Given the description of an element on the screen output the (x, y) to click on. 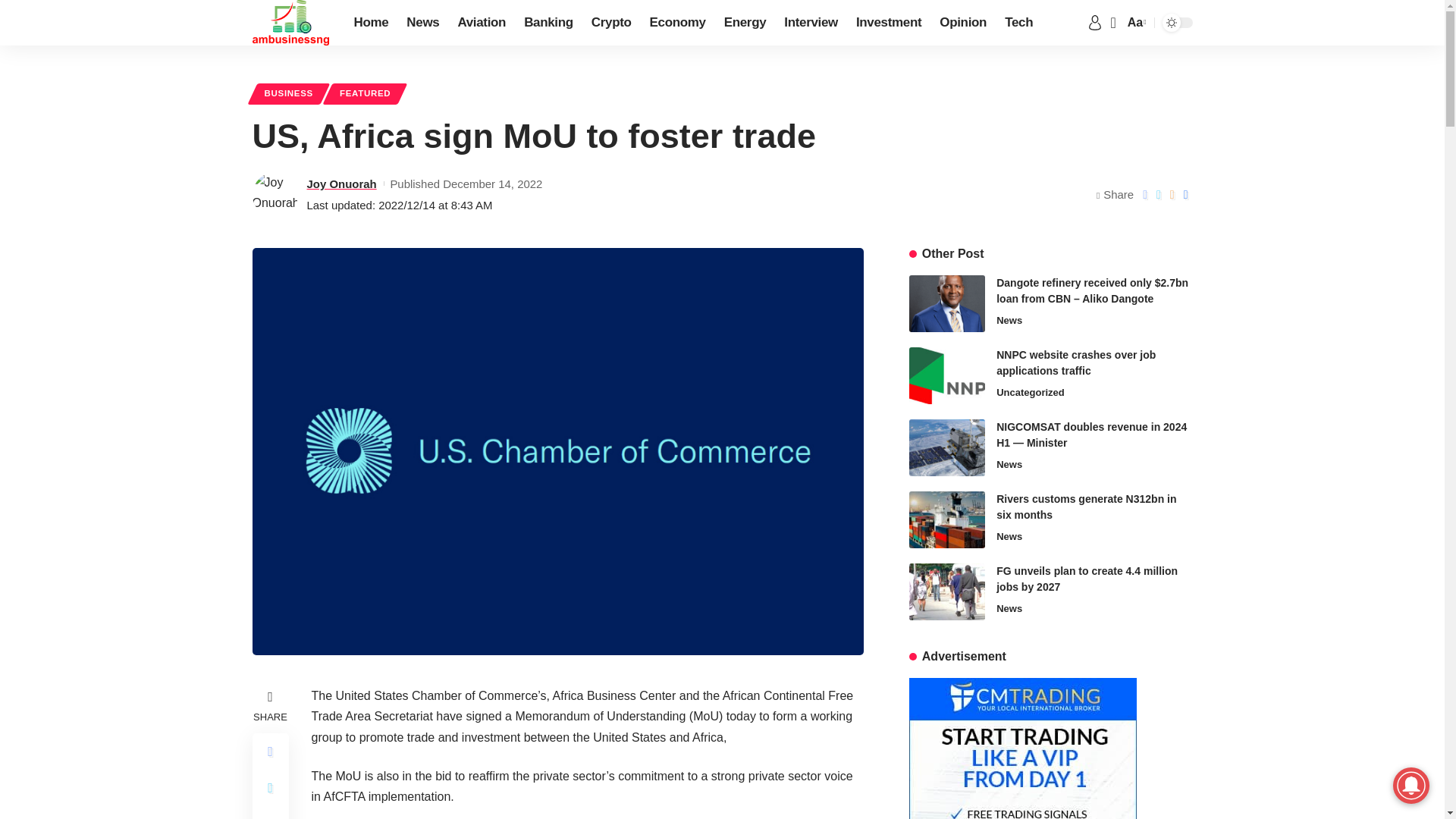
Rivers customs generate N312bn in six months (946, 519)
Home (370, 22)
Banking (548, 22)
Tech (1018, 22)
AM Business (290, 22)
Aviation (481, 22)
Investment (888, 22)
Energy (745, 22)
Interview (810, 22)
Economy (677, 22)
NNPC website crashes over job applications traffic (946, 375)
FG unveils plan to create 4.4 million jobs by 2027 (946, 590)
News (422, 22)
Opinion (962, 22)
Aa (1135, 22)
